Given the description of an element on the screen output the (x, y) to click on. 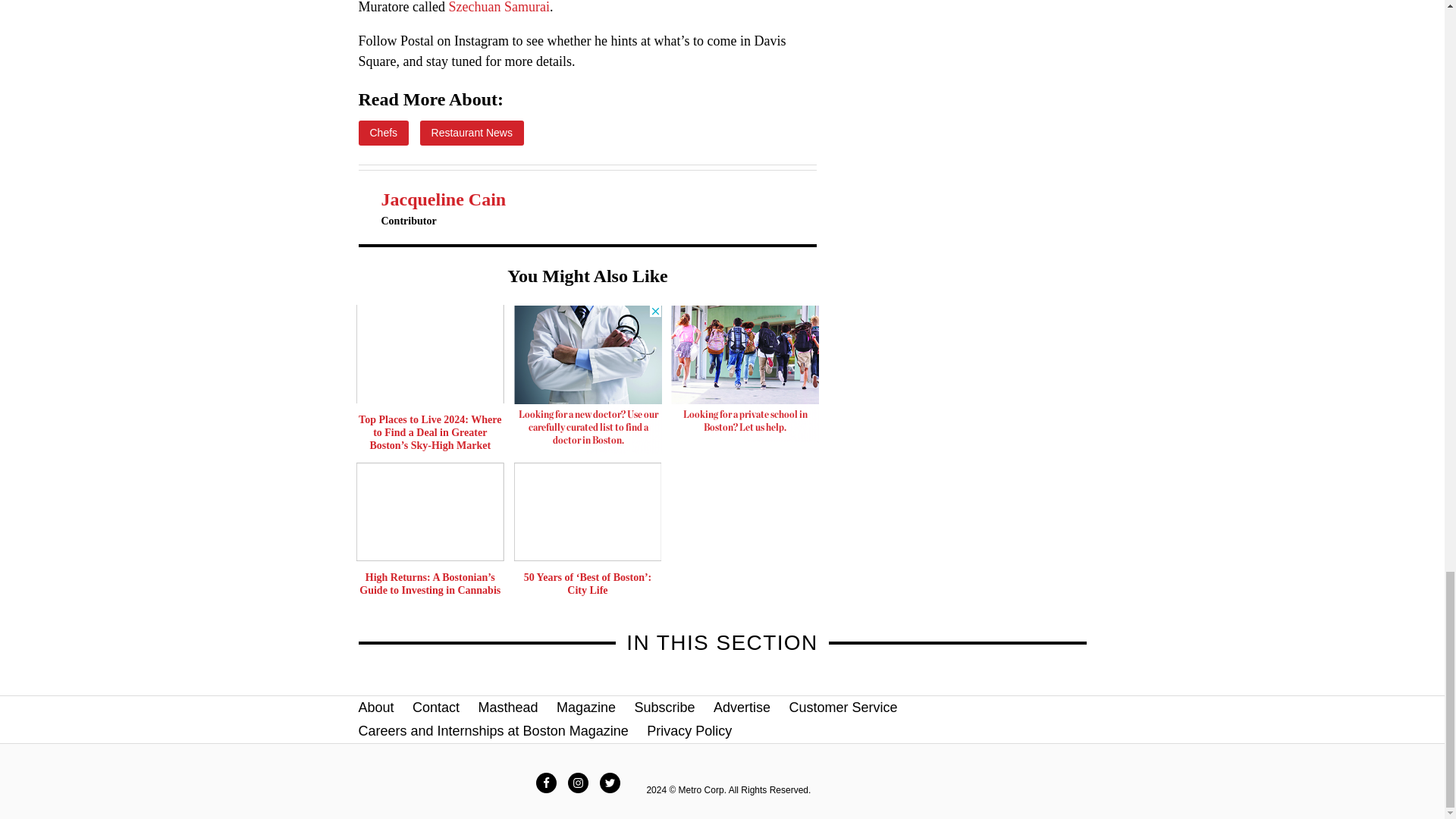
3rd party ad content (744, 372)
3rd party ad content (587, 378)
szechuansamurai (498, 7)
